Given the description of an element on the screen output the (x, y) to click on. 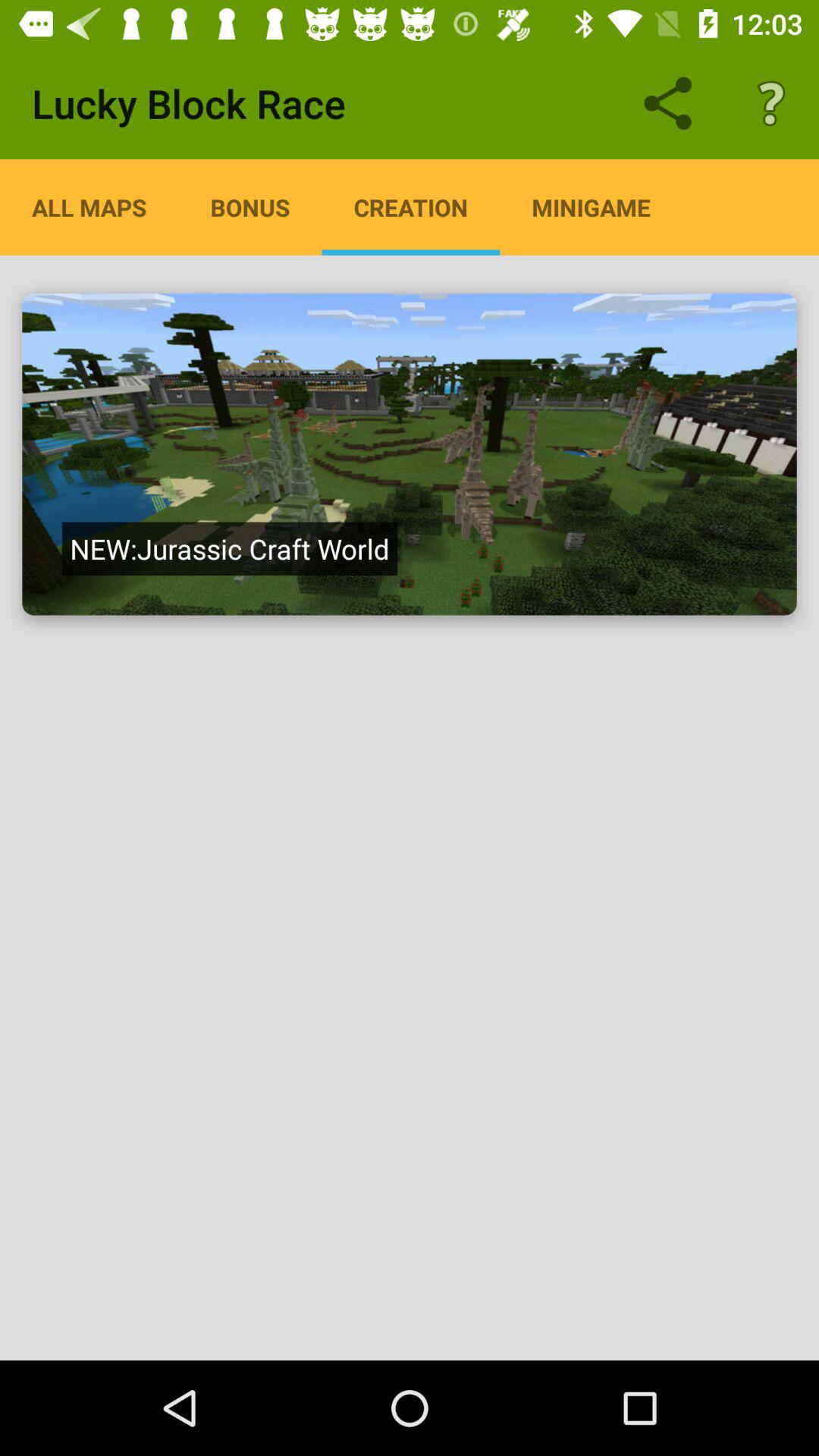
select the item to the left of minigame item (410, 207)
